Given the description of an element on the screen output the (x, y) to click on. 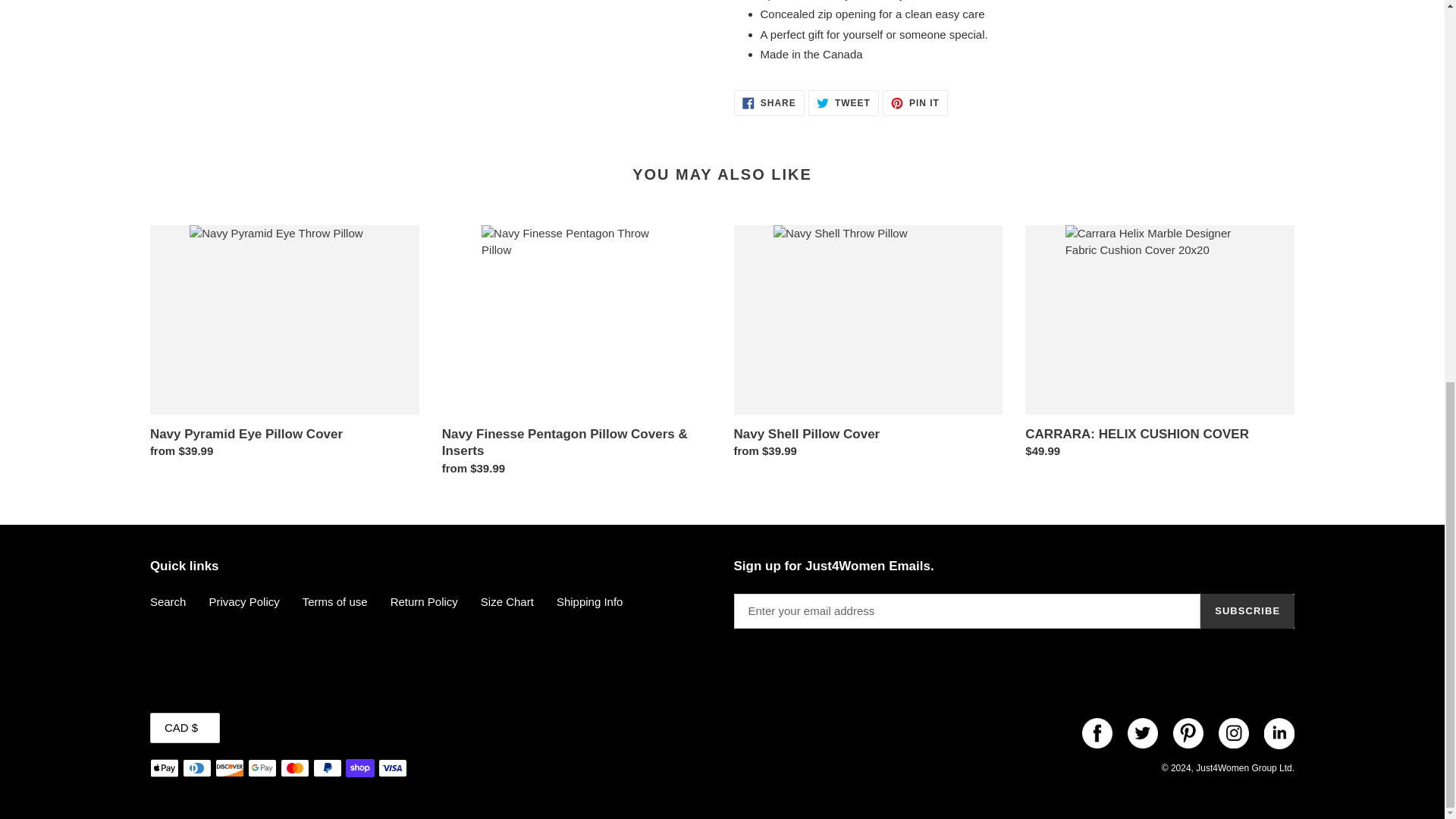
CARRARA: HELIX CUSHION COVER (1159, 345)
Navy Pyramid Eye Pillow Cover (284, 345)
Navy Shell Pillow Cover (868, 345)
Search (167, 601)
Privacy Policy (769, 103)
